Given the description of an element on the screen output the (x, y) to click on. 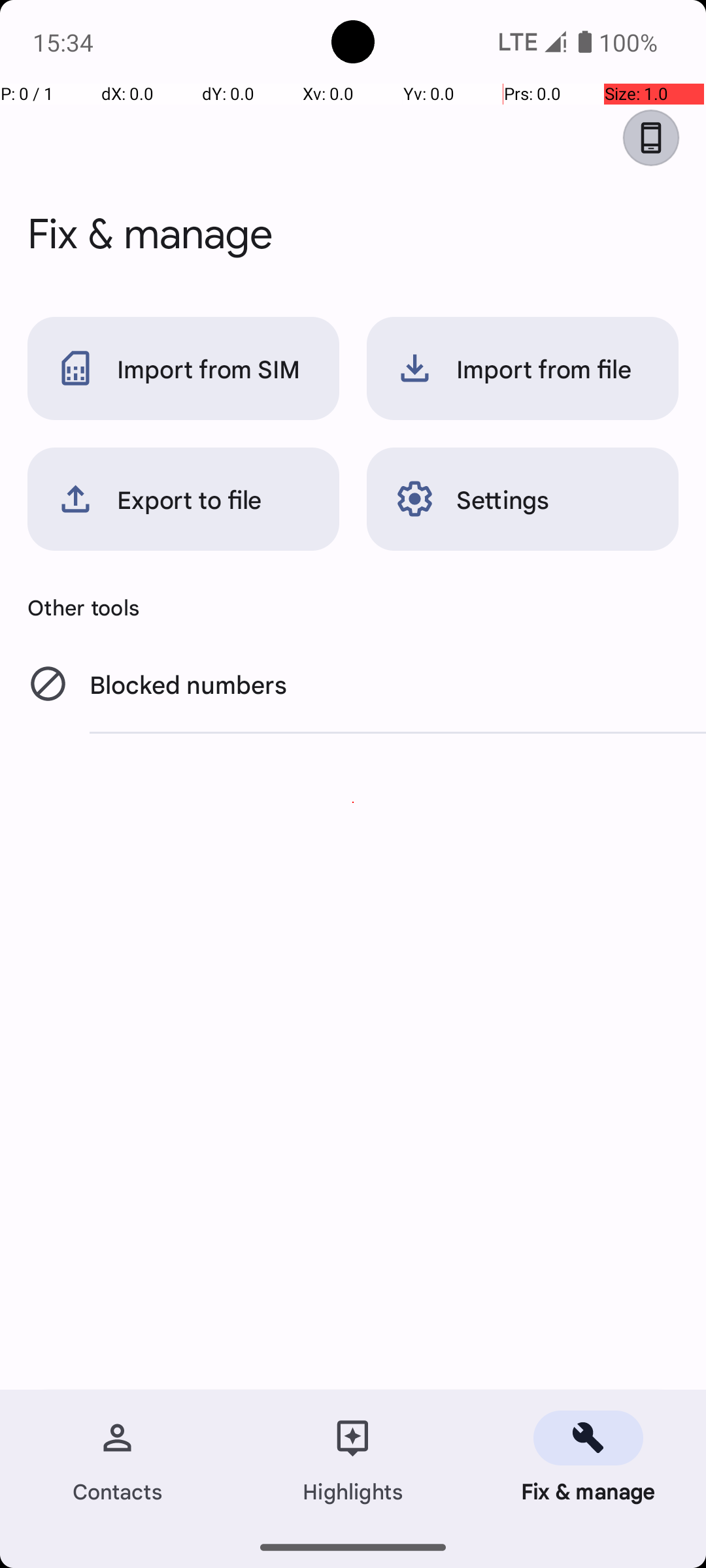
Other tools Element type: android.widget.TextView (353, 606)
Import from SIM Element type: android.widget.TextView (183, 368)
Import from file Element type: android.widget.TextView (522, 368)
Export to file Element type: android.widget.TextView (183, 498)
